Given the description of an element on the screen output the (x, y) to click on. 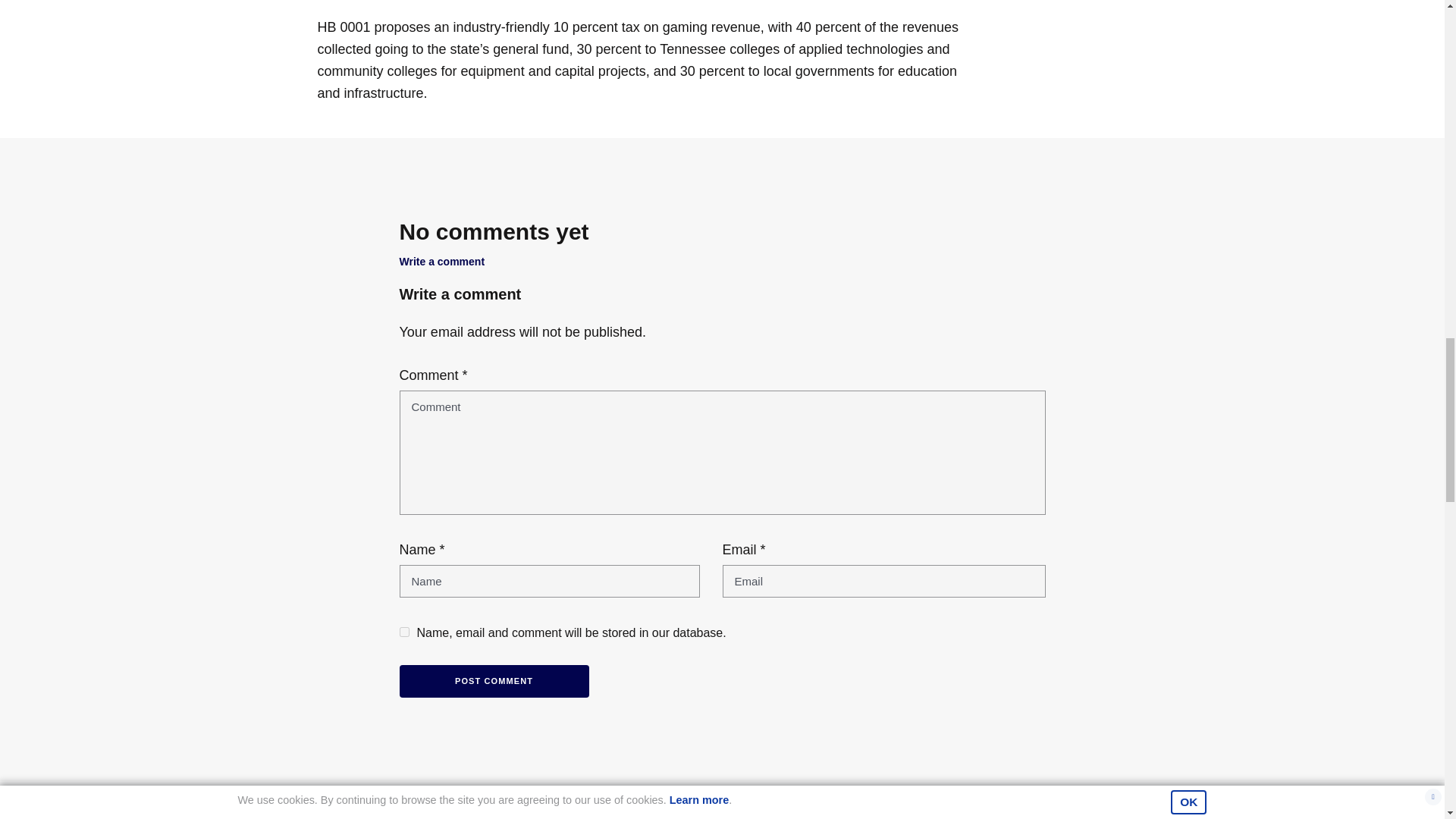
yes (403, 632)
Post Comment (493, 681)
